Given the description of an element on the screen output the (x, y) to click on. 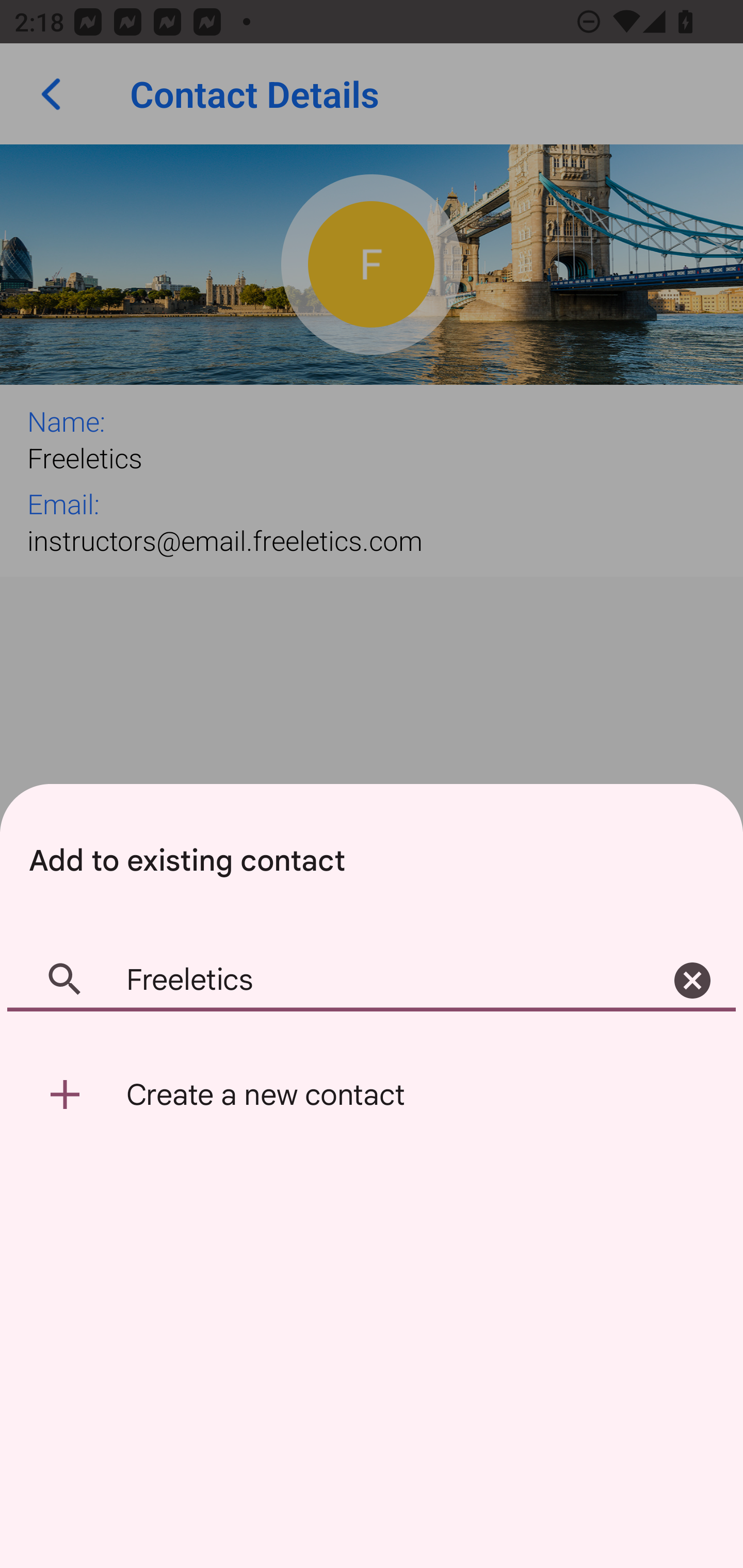
Freeletics (371, 980)
Clear search (692, 980)
Create a new contact (371, 1094)
